Given the description of an element on the screen output the (x, y) to click on. 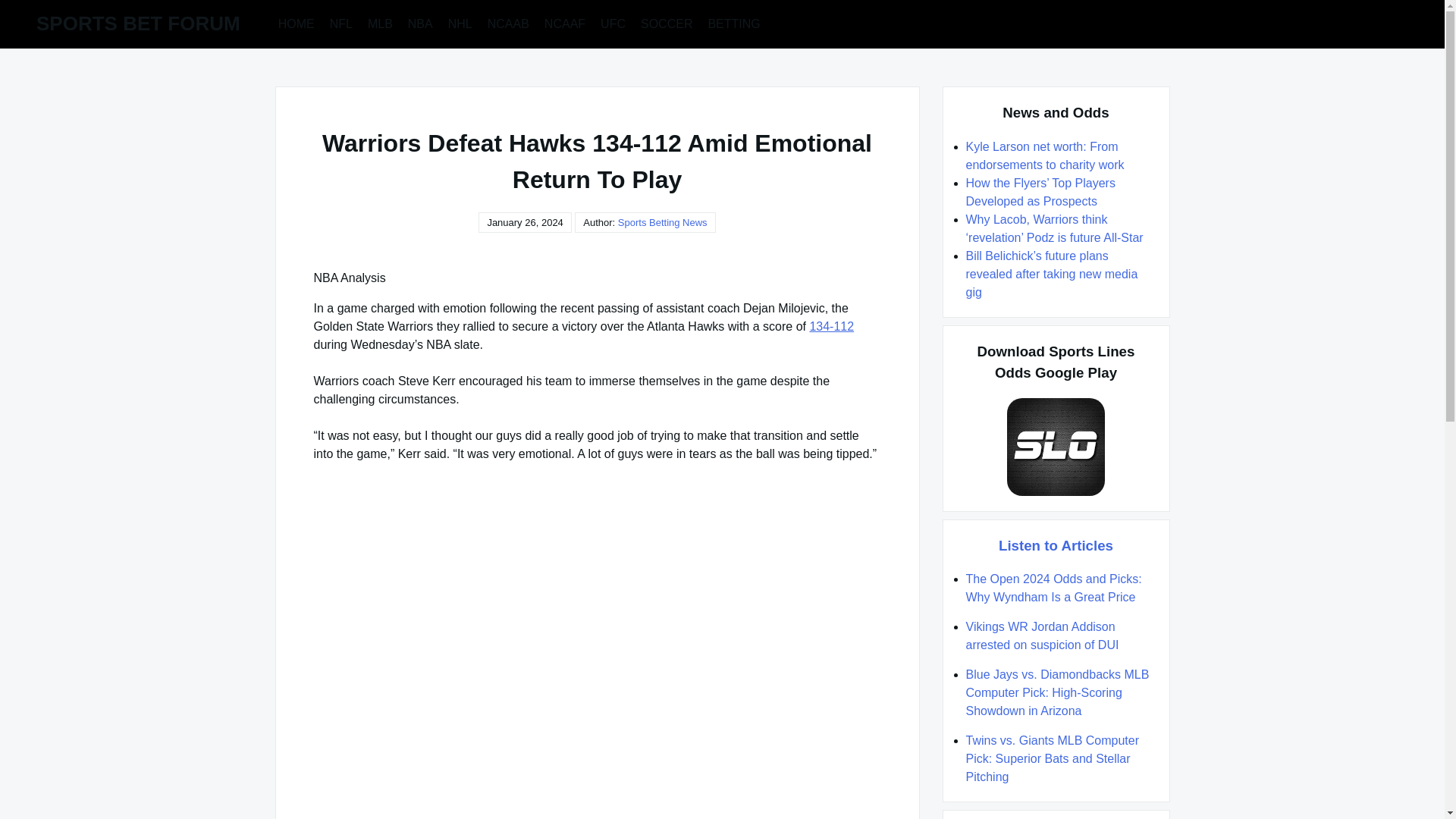
BETTING (733, 23)
NCAAB (508, 23)
SOCCER (666, 23)
NCAAF (564, 23)
MLB (379, 23)
NFL (340, 23)
Kyle Larson net worth: From endorsements to charity work (1045, 155)
SPORTS BET FORUM (138, 23)
NHL (460, 23)
UFC (612, 23)
134-112 (831, 326)
HOME (295, 23)
NBA (420, 23)
Sports Betting News (662, 222)
Posts by Sports Betting News (662, 222)
